Given the description of an element on the screen output the (x, y) to click on. 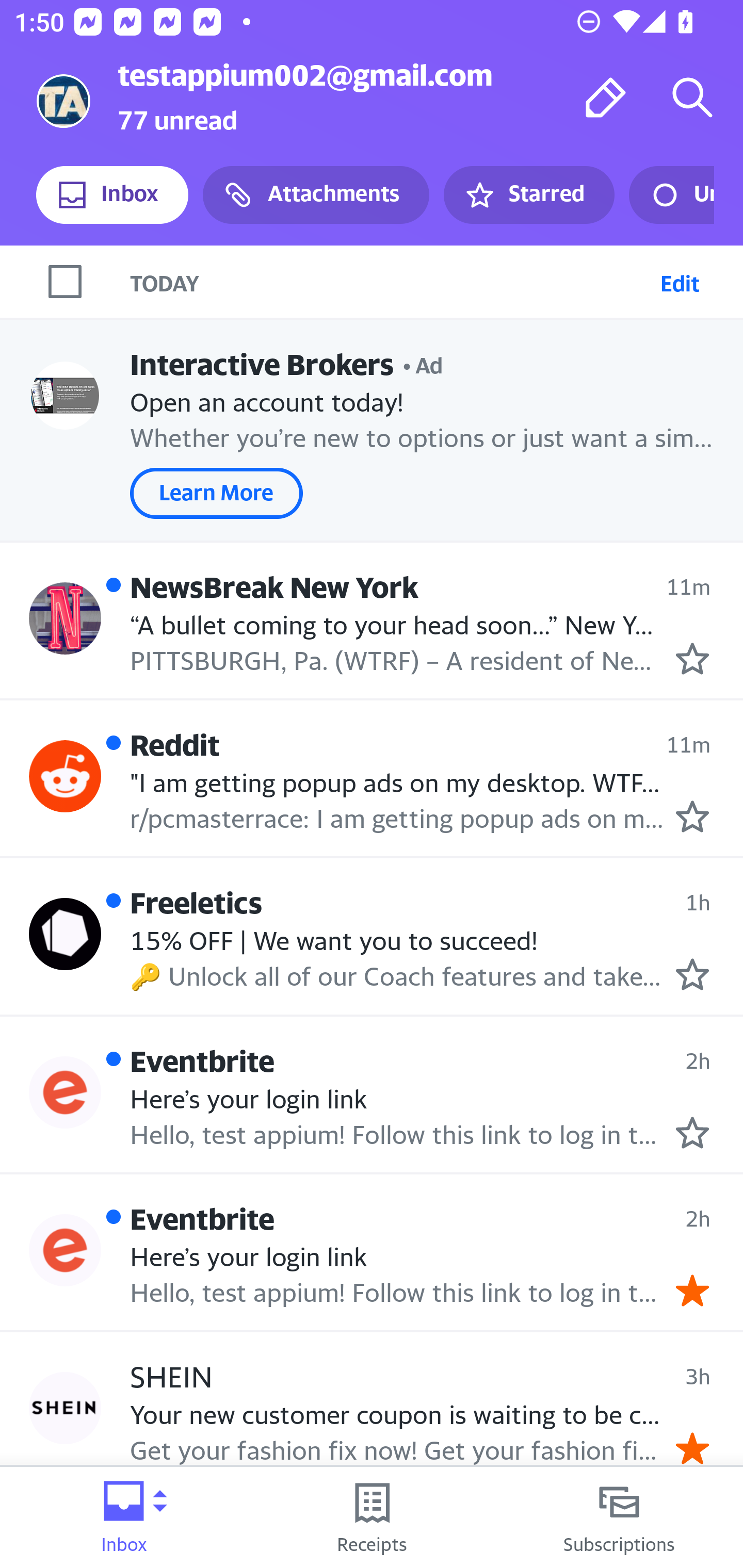
Compose (605, 97)
Search mail (692, 97)
Attachments (315, 195)
Starred (528, 195)
TODAY (391, 281)
Edit Select emails (679, 281)
Profile
NewsBreak New York (64, 617)
Mark as starred. (692, 659)
Profile
Reddit (64, 776)
Mark as starred. (692, 816)
Profile
Freeletics (64, 934)
Mark as starred. (692, 974)
Profile
Eventbrite (64, 1092)
Mark as starred. (692, 1132)
Profile
Eventbrite (64, 1249)
Remove star. (692, 1291)
Profile
SHEIN (64, 1408)
Remove star. (692, 1448)
Inbox Folder picker (123, 1517)
Receipts (371, 1517)
Subscriptions (619, 1517)
